Given the description of an element on the screen output the (x, y) to click on. 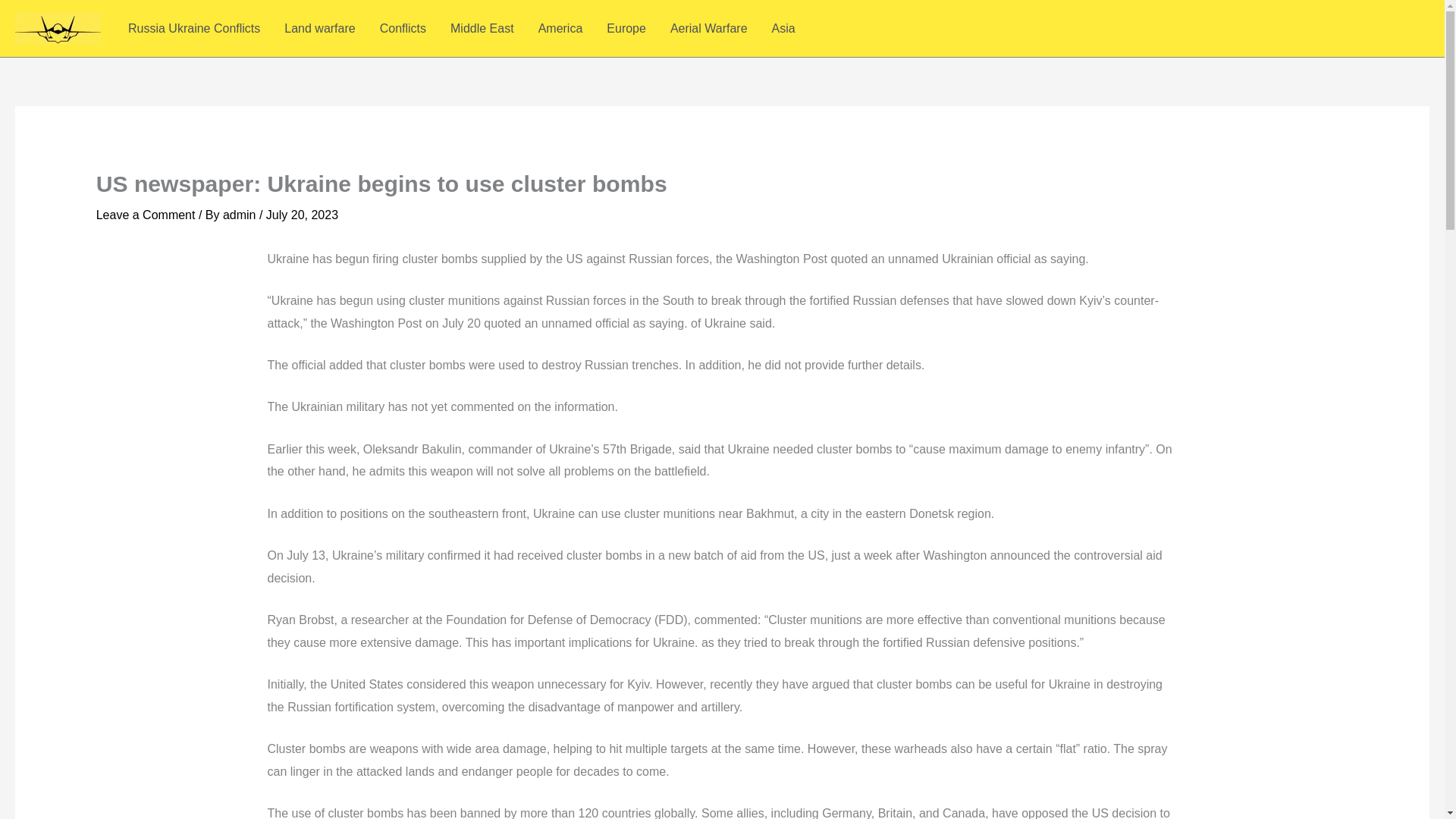
Aerial Warfare (709, 27)
Leave a Comment (145, 214)
Conflicts (403, 27)
Middle East (481, 27)
America (560, 27)
Russia Ukraine Conflicts (194, 27)
Europe (626, 27)
admin (240, 214)
Asia (784, 27)
View all posts by admin (240, 214)
Land warfare (319, 27)
